Given the description of an element on the screen output the (x, y) to click on. 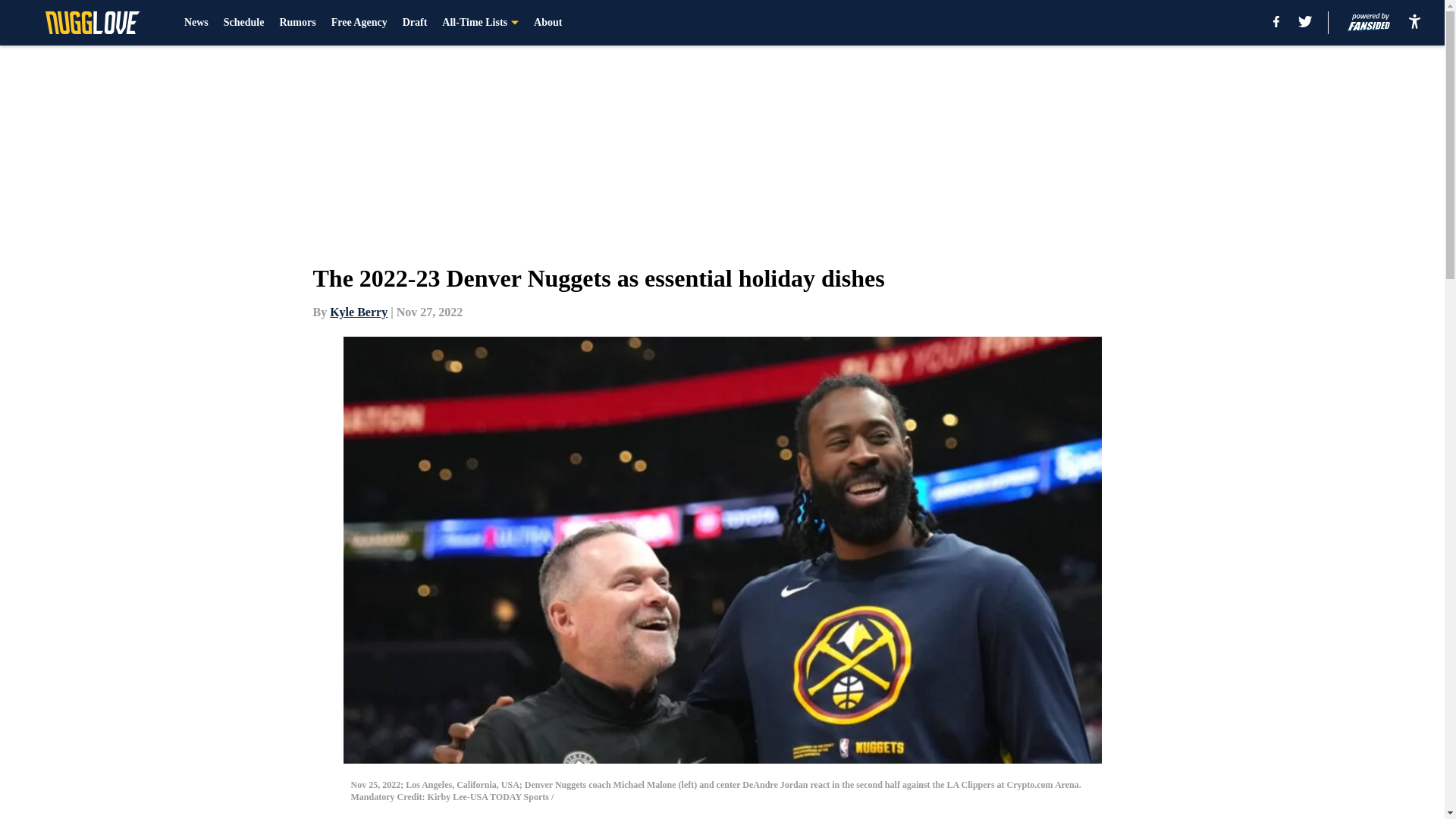
Kyle Berry (358, 311)
About (548, 22)
News (196, 22)
Draft (415, 22)
Rumors (297, 22)
All-Time Lists (480, 22)
Free Agency (359, 22)
Schedule (244, 22)
